Given the description of an element on the screen output the (x, y) to click on. 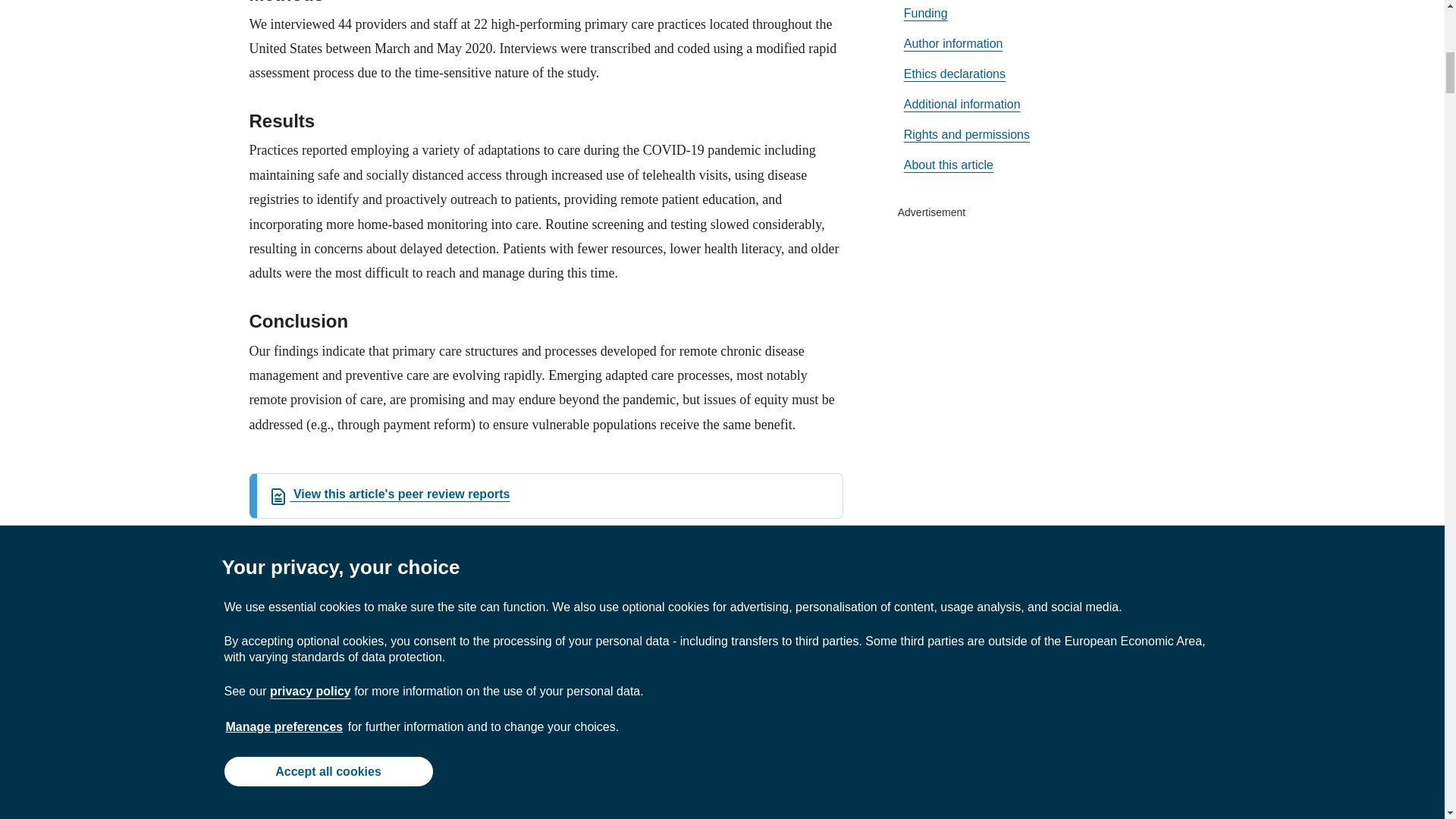
View this article's peer review reports (388, 493)
